Given the description of an element on the screen output the (x, y) to click on. 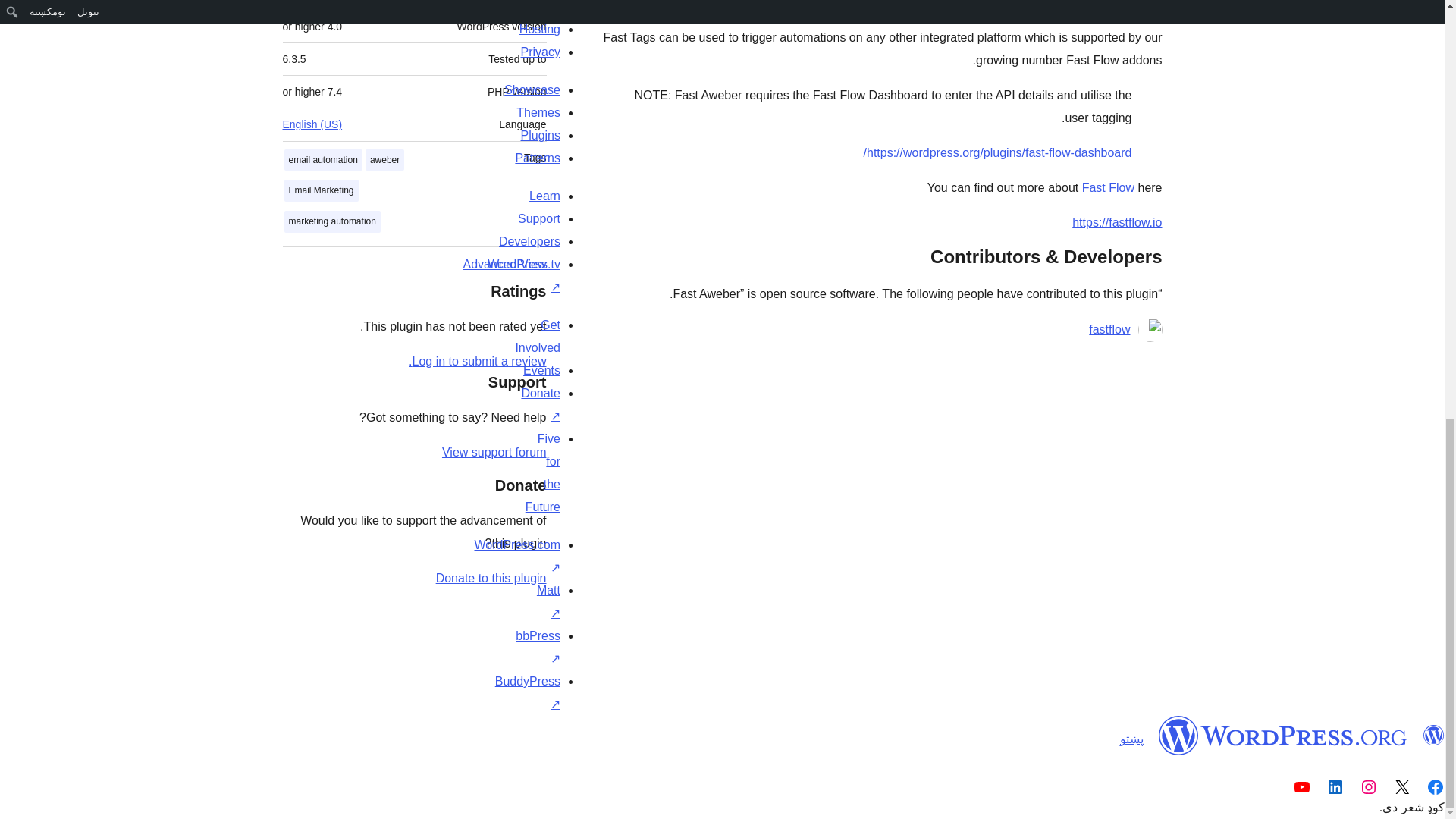
Fast Flow (1107, 187)
fastflow (1109, 329)
WordPress.org (1282, 735)
Log in to WordPress.org (477, 360)
